Given the description of an element on the screen output the (x, y) to click on. 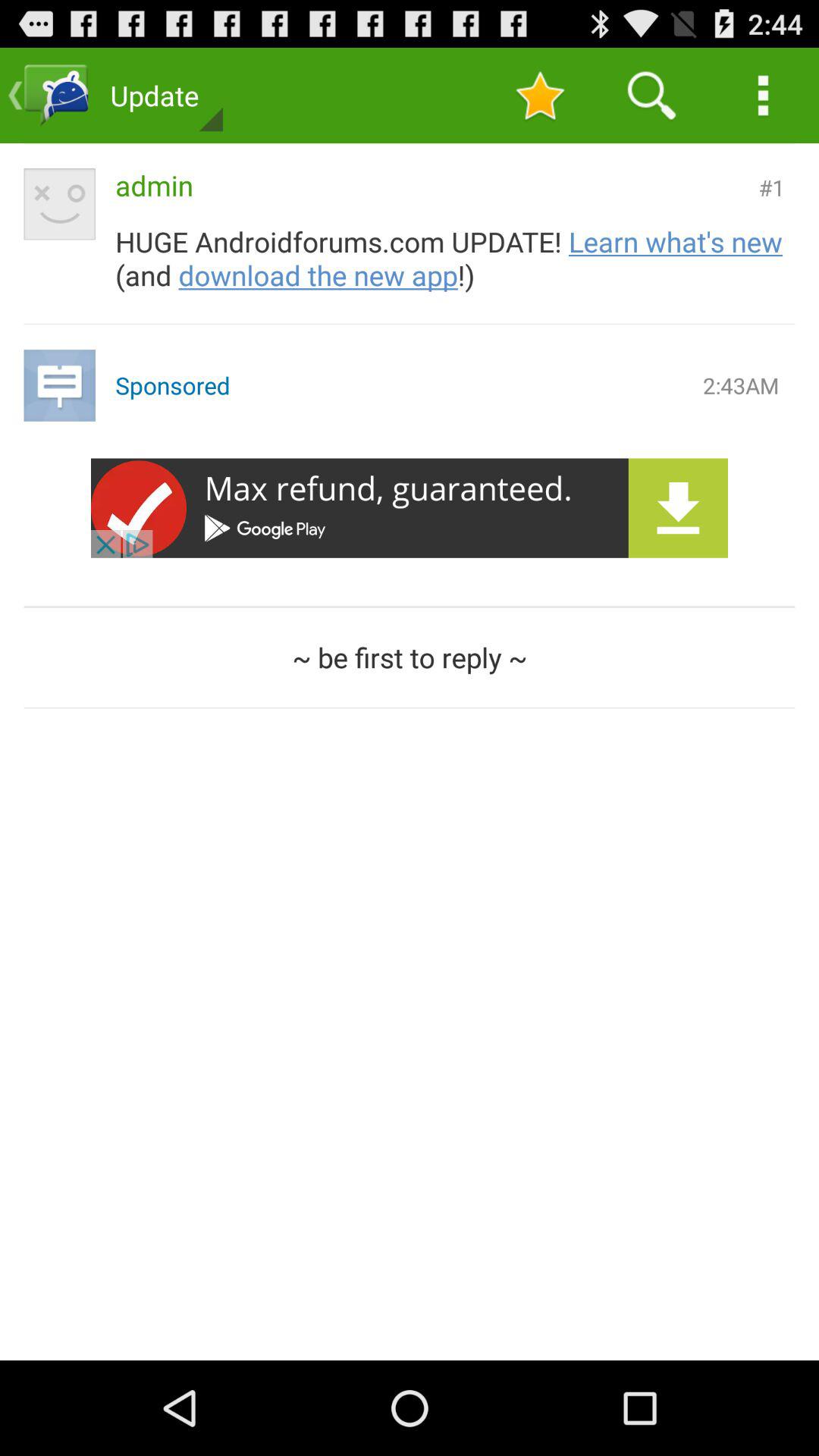
visit advertisement website (409, 507)
